Given the description of an element on the screen output the (x, y) to click on. 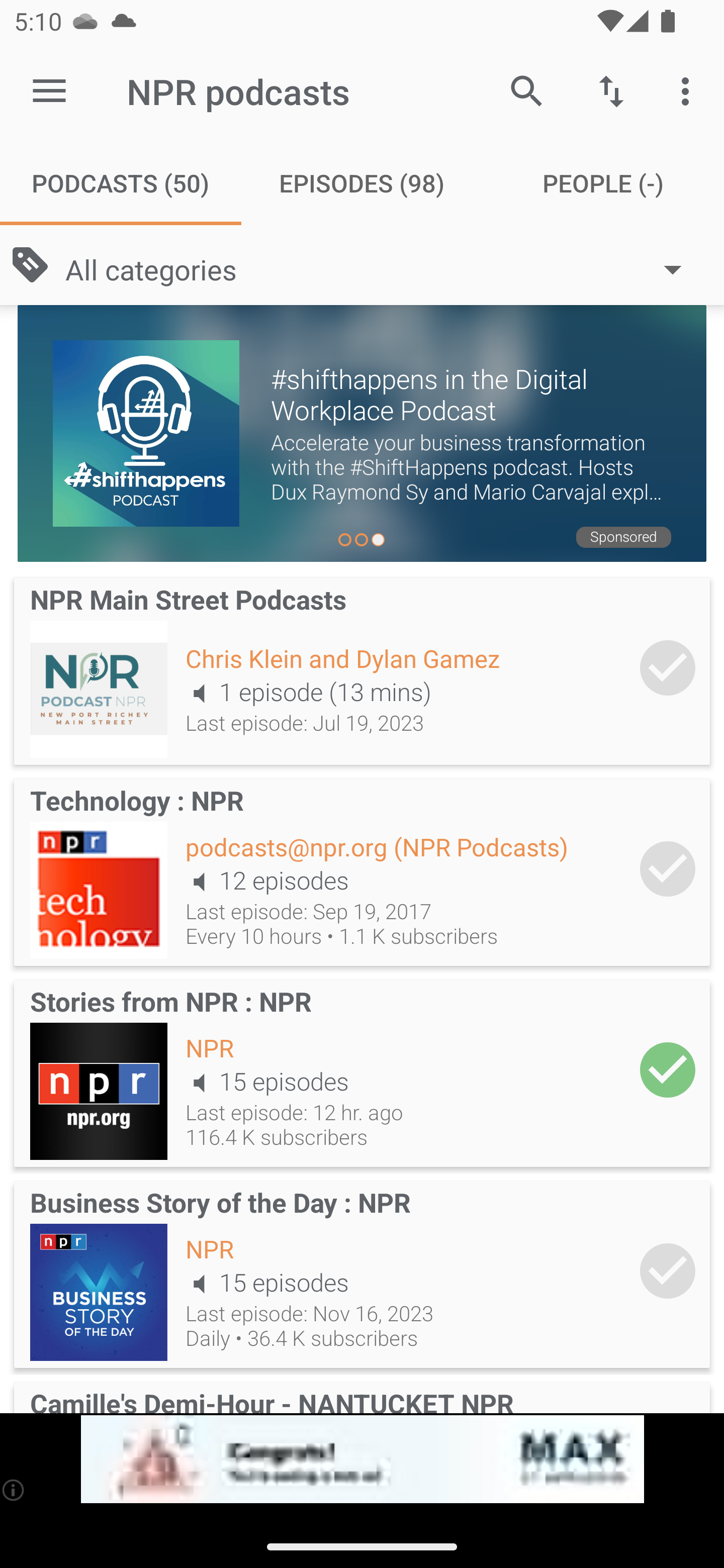
Open navigation sidebar (49, 91)
Search (526, 90)
Sort (611, 90)
More options (688, 90)
Episodes (98) EPISODES (98) (361, 183)
People (-) PEOPLE (-) (603, 183)
All categories (383, 268)
Add (667, 667)
Add (667, 868)
Add (667, 1069)
Add (667, 1271)
app-monetization (362, 1459)
(i) (14, 1489)
